Given the description of an element on the screen output the (x, y) to click on. 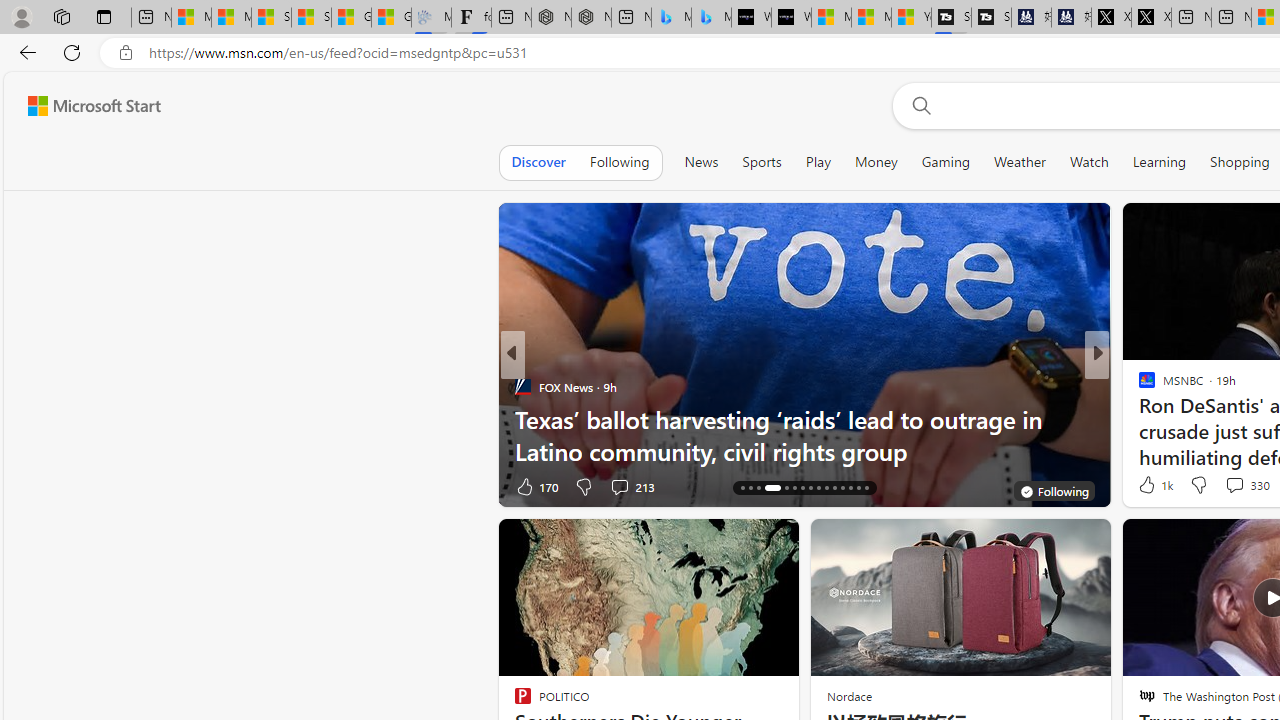
AutomationID: tab-28 (850, 487)
5 Like (1145, 486)
AutomationID: tab-18 (757, 487)
Tom's Guide (1138, 386)
AutomationID: tab-27 (842, 487)
View comments 6 Comment (1234, 485)
AutomationID: tab-23 (810, 487)
Skip to content (86, 105)
